Given the description of an element on the screen output the (x, y) to click on. 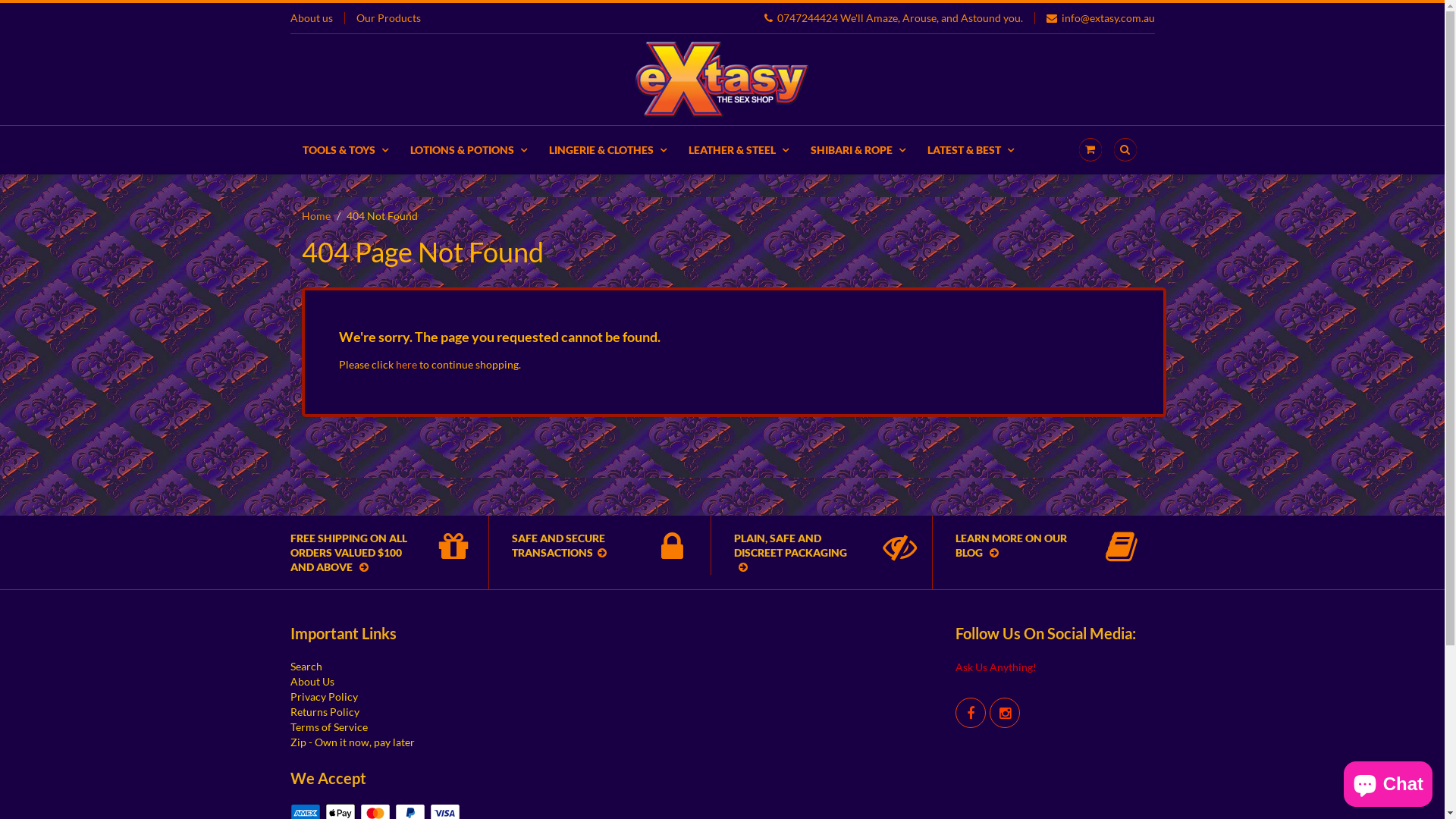
Our Products Element type: text (388, 18)
LEARN MORE ON OUR BLOG Element type: text (1032, 544)
SHIBARI & ROPE Element type: text (857, 149)
0747244424 We'll Amaze, Arouse, and Astound you. Element type: text (893, 18)
info@extasy.com.au Element type: text (1100, 18)
About us Element type: text (310, 18)
LEATHER & STEEL Element type: text (737, 149)
PLAIN, SAFE AND DISCREET PACKAGING Element type: text (810, 552)
Zip - Own it now, pay later Element type: text (351, 741)
TOOLS & TOYS Element type: text (349, 149)
FREE SHIPPING ON ALL ORDERS VALUED $100 AND ABOVE Element type: text (365, 552)
LINGERIE & CLOTHES Element type: text (606, 149)
Instagram Element type: hover (1004, 712)
Privacy Policy Element type: text (323, 696)
Home Element type: text (315, 215)
LATEST & BEST Element type: text (970, 149)
SAFE AND SECURE TRANSACTIONS Element type: text (588, 544)
Terms of Service Element type: text (328, 726)
Search Element type: text (305, 665)
Facebook Element type: hover (970, 712)
Shopify online store chat Element type: hover (1388, 780)
LOTIONS & POTIONS Element type: text (467, 149)
Returns Policy Element type: text (323, 711)
here Element type: text (406, 363)
About Us Element type: text (311, 680)
